Given the description of an element on the screen output the (x, y) to click on. 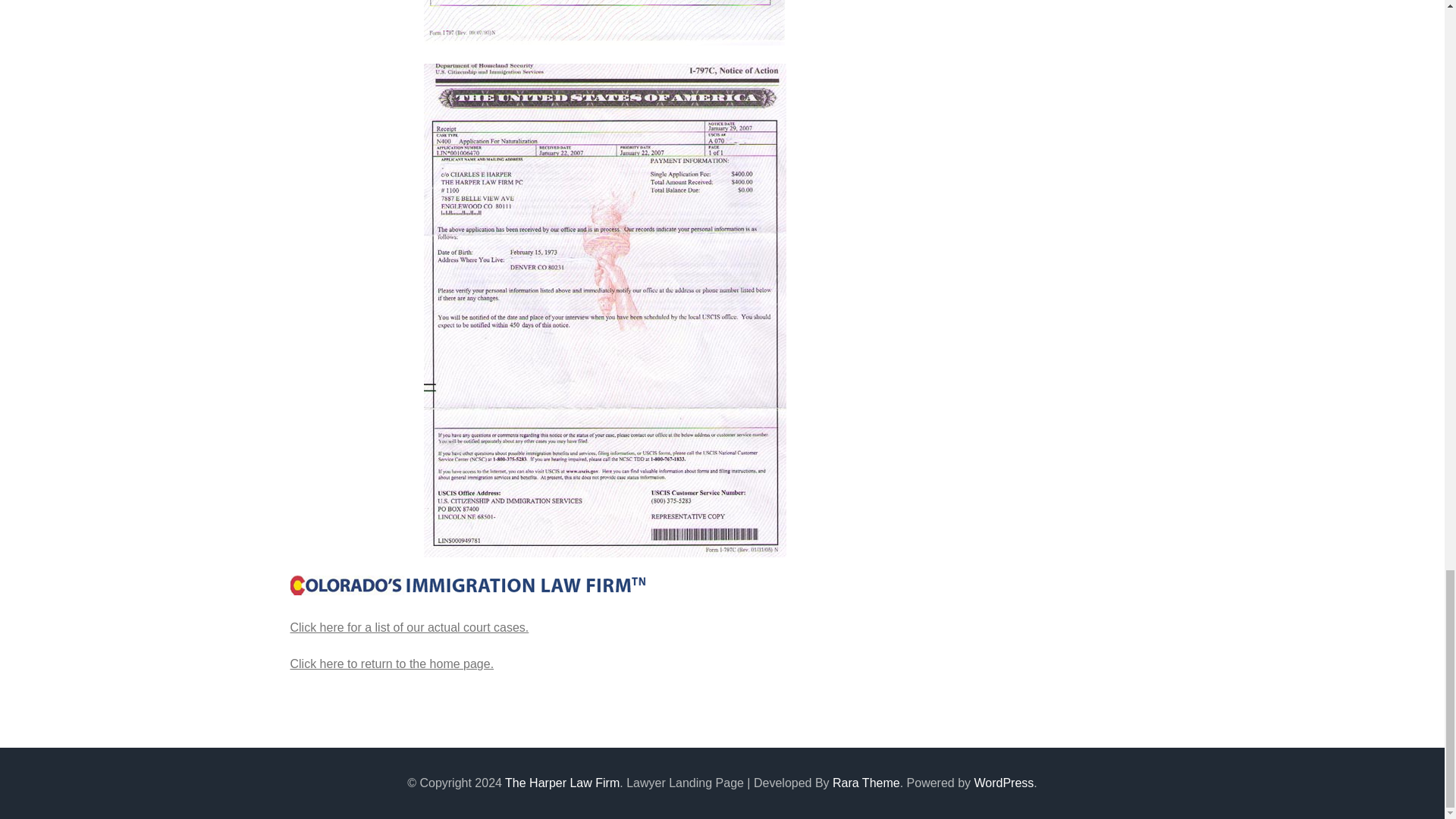
Rara Theme (865, 782)
WordPress (1003, 782)
Click here to return to the home page. (391, 663)
The Harper Law Firm (562, 782)
Click here for a list of our actual court cases. (408, 626)
